Given the description of an element on the screen output the (x, y) to click on. 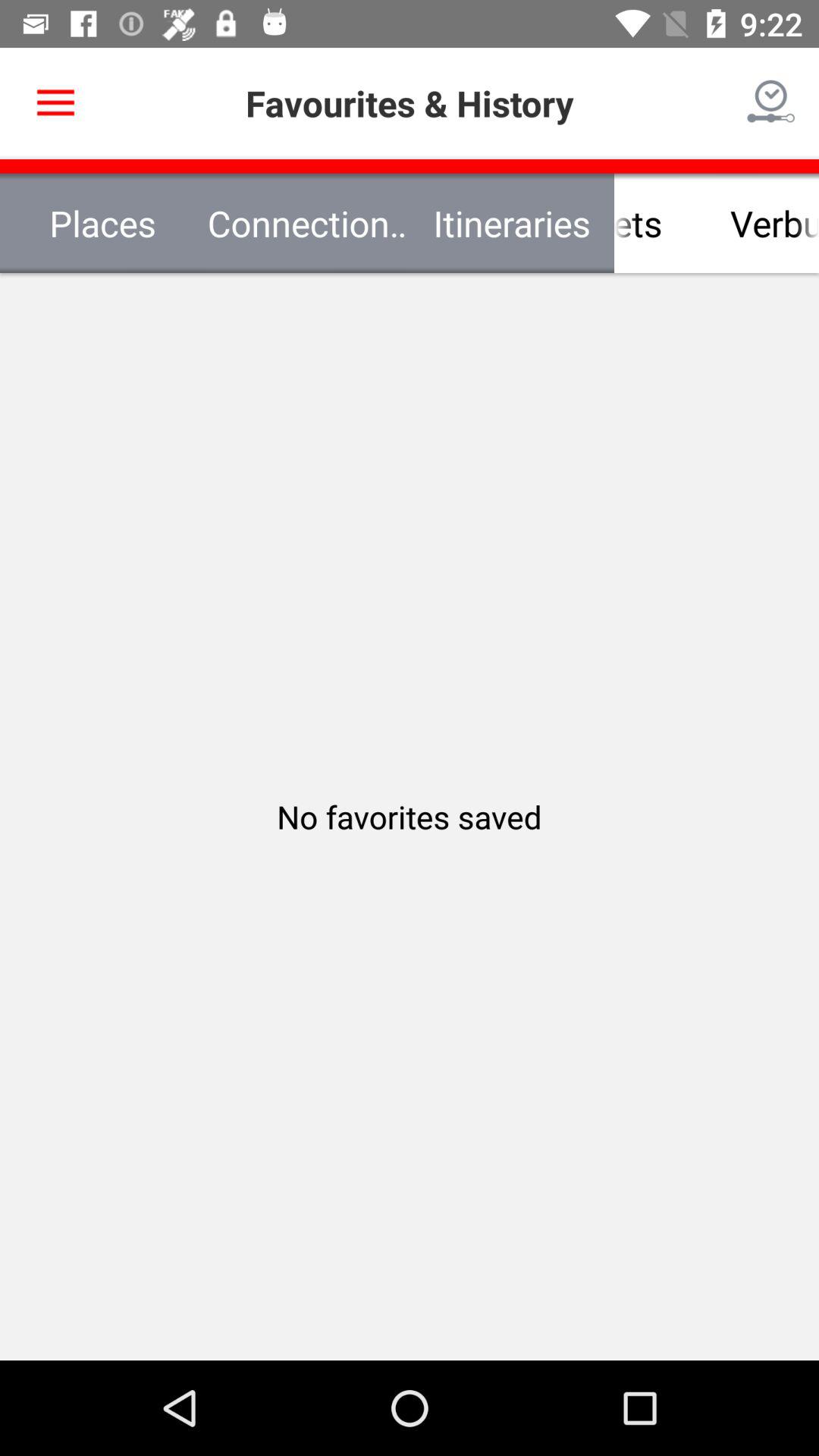
tap item to the right of favourites & history (771, 103)
